Given the description of an element on the screen output the (x, y) to click on. 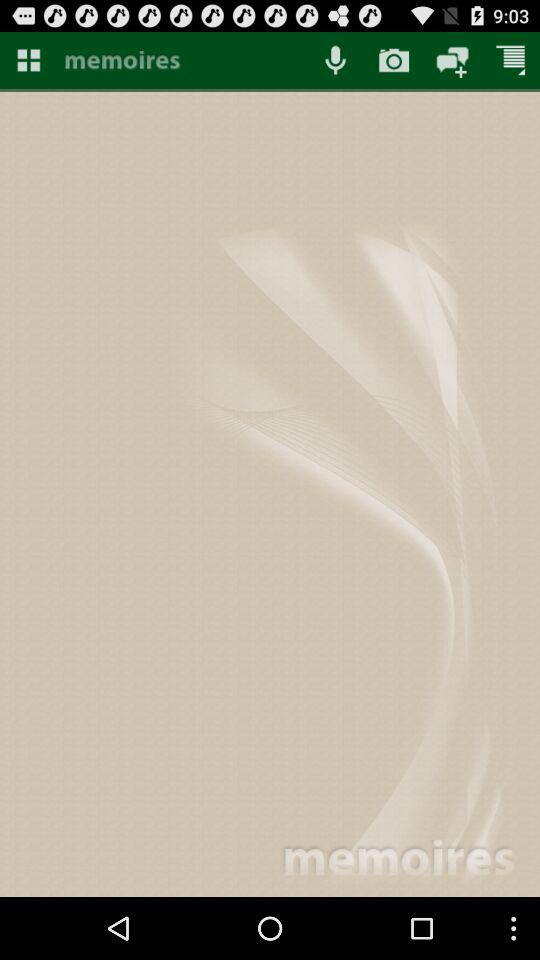
click on title (182, 61)
